Given the description of an element on the screen output the (x, y) to click on. 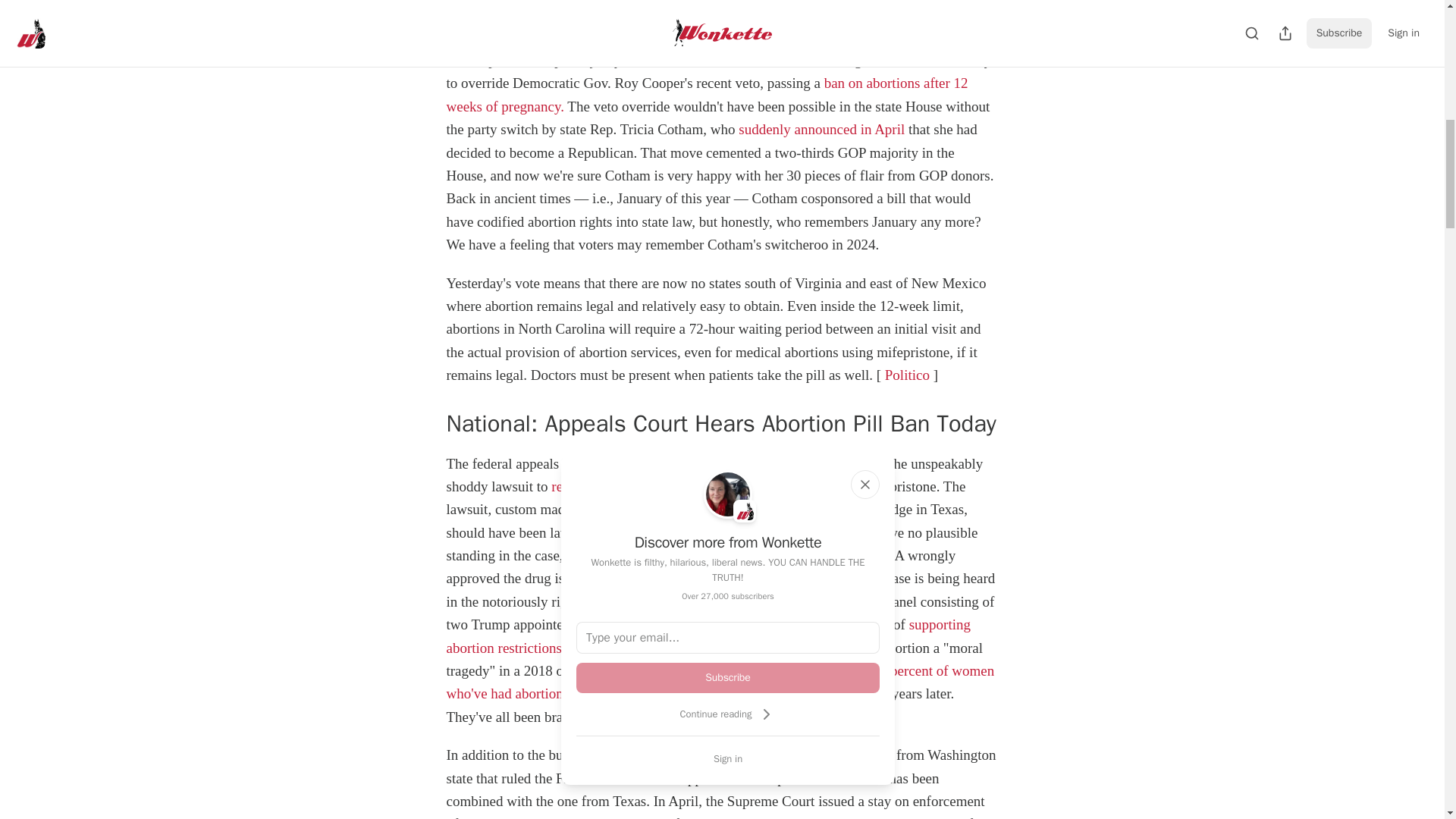
Sign in (727, 758)
is hearing oral arguments today (780, 463)
reverse the FDA's 2000 approval (646, 486)
Politico (907, 374)
99 percent of women who've had abortions (719, 681)
suddenly announced in April (821, 129)
Subscribe (727, 677)
ban on abortions after 12 weeks of pregnancy. (706, 94)
supporting abortion restrictions. (707, 635)
